Given the description of an element on the screen output the (x, y) to click on. 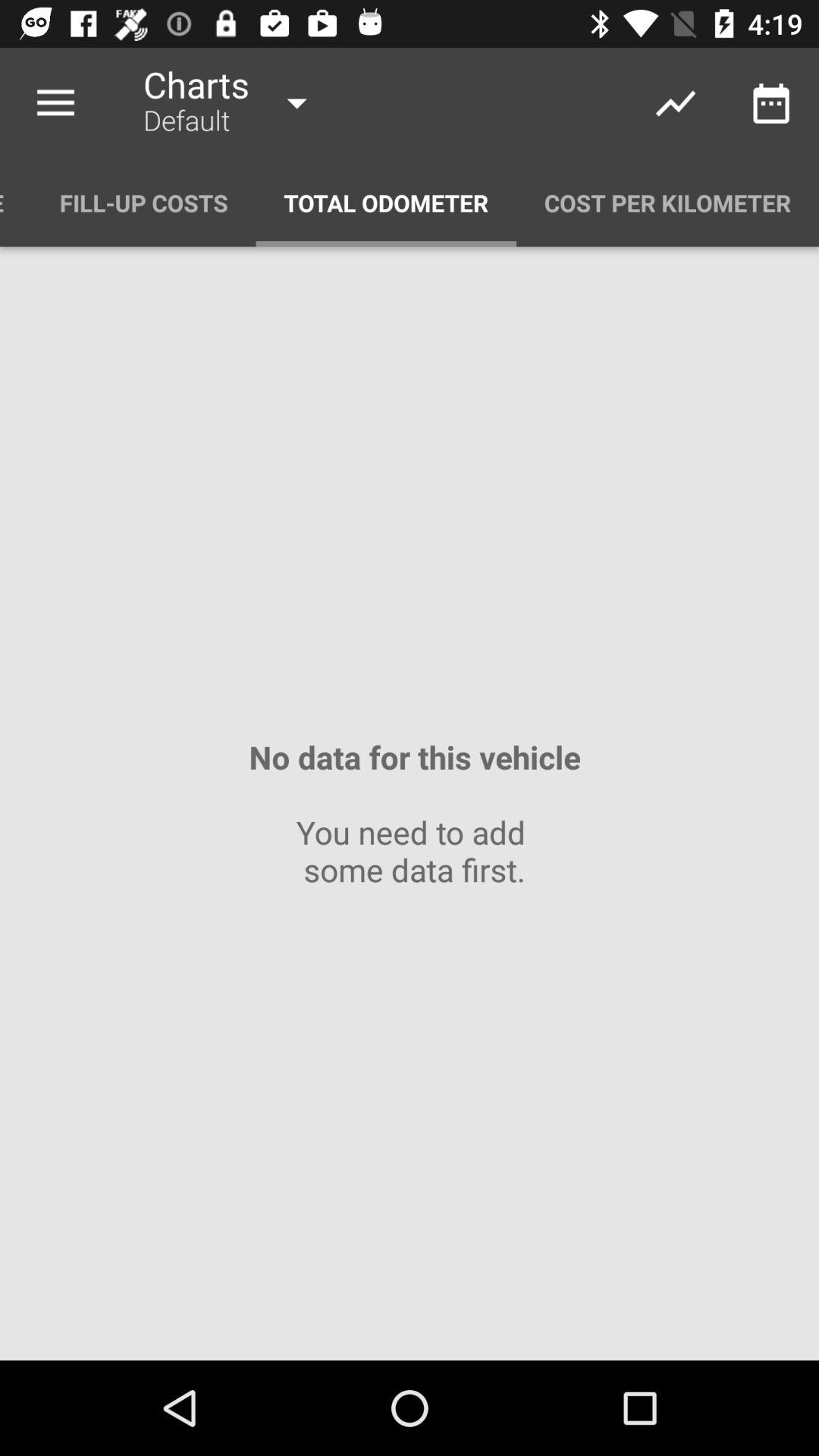
click item next to fill-up costs (15, 202)
